Given the description of an element on the screen output the (x, y) to click on. 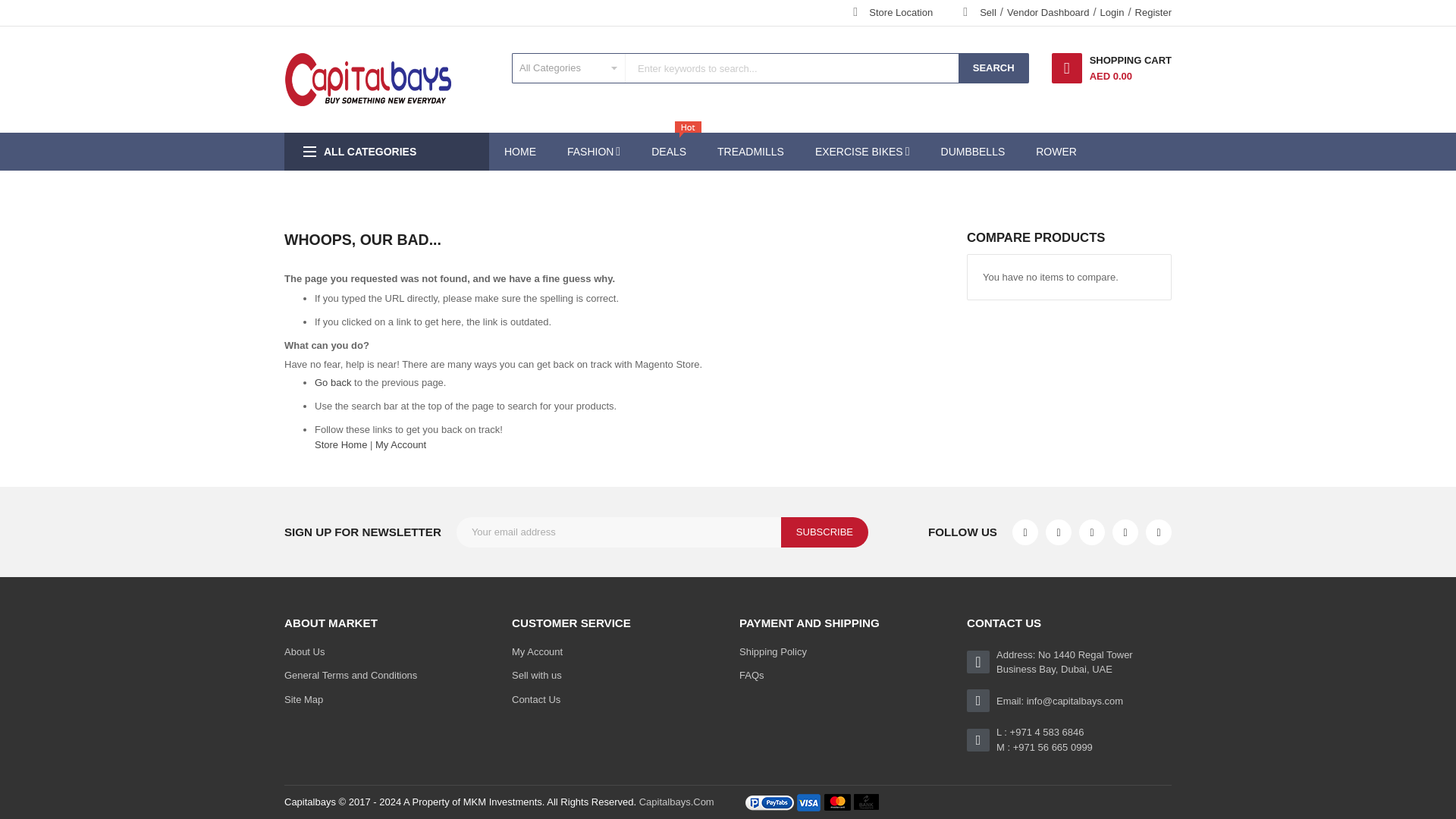
Vendor Dashboard (1048, 12)
Your email address (618, 531)
SEARCH (993, 68)
Sell (987, 12)
Login (1112, 12)
Search (993, 68)
Capitalbays.Com (676, 801)
Register (1153, 12)
Store Location (901, 12)
Subscribe (823, 531)
